Given the description of an element on the screen output the (x, y) to click on. 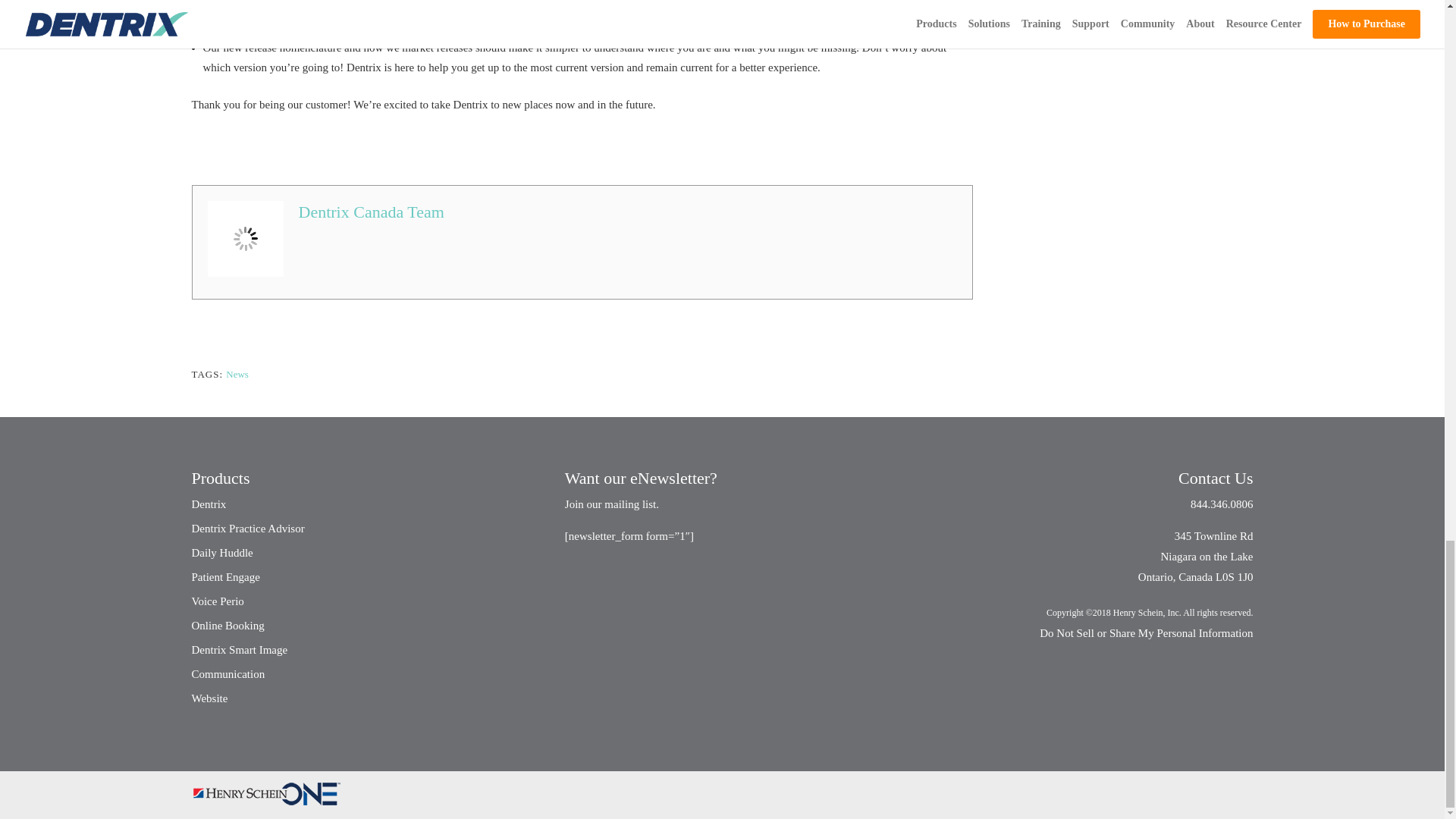
linkedin (288, 149)
pinterest (328, 149)
twitter (249, 149)
facebook (210, 149)
